Given the description of an element on the screen output the (x, y) to click on. 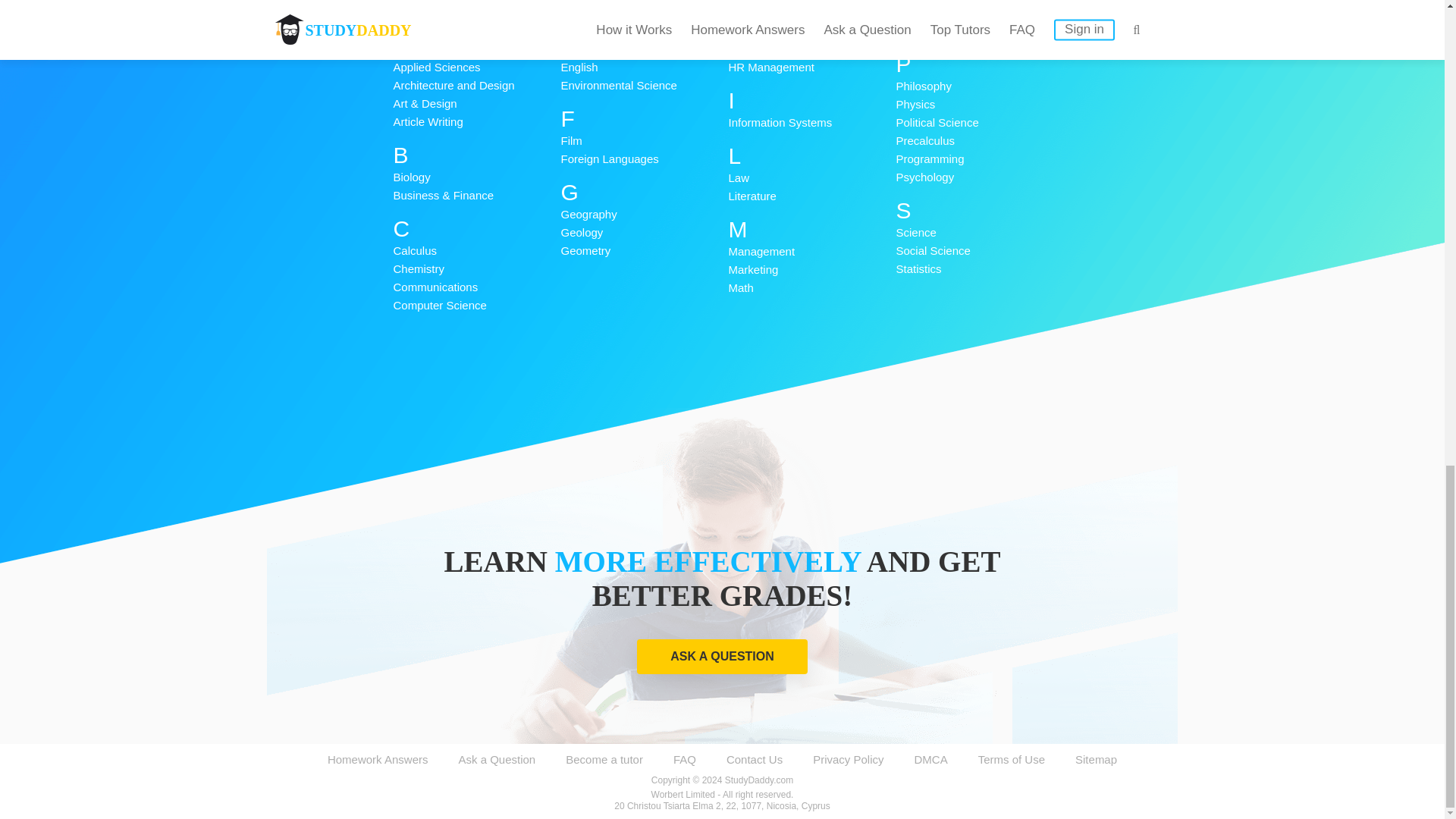
Algebra (476, 49)
Sitemap (1095, 758)
Architecture and Design (476, 85)
Contact Us (754, 758)
Applied Sciences (476, 67)
Ask a Question (496, 758)
English (644, 67)
Privacy Policy (847, 758)
Terms of Use (1011, 758)
Economics (644, 31)
Computer Science (476, 305)
Environmental Science (644, 85)
Communications (476, 287)
Article Writing (476, 122)
Chemistry (476, 269)
